Given the description of an element on the screen output the (x, y) to click on. 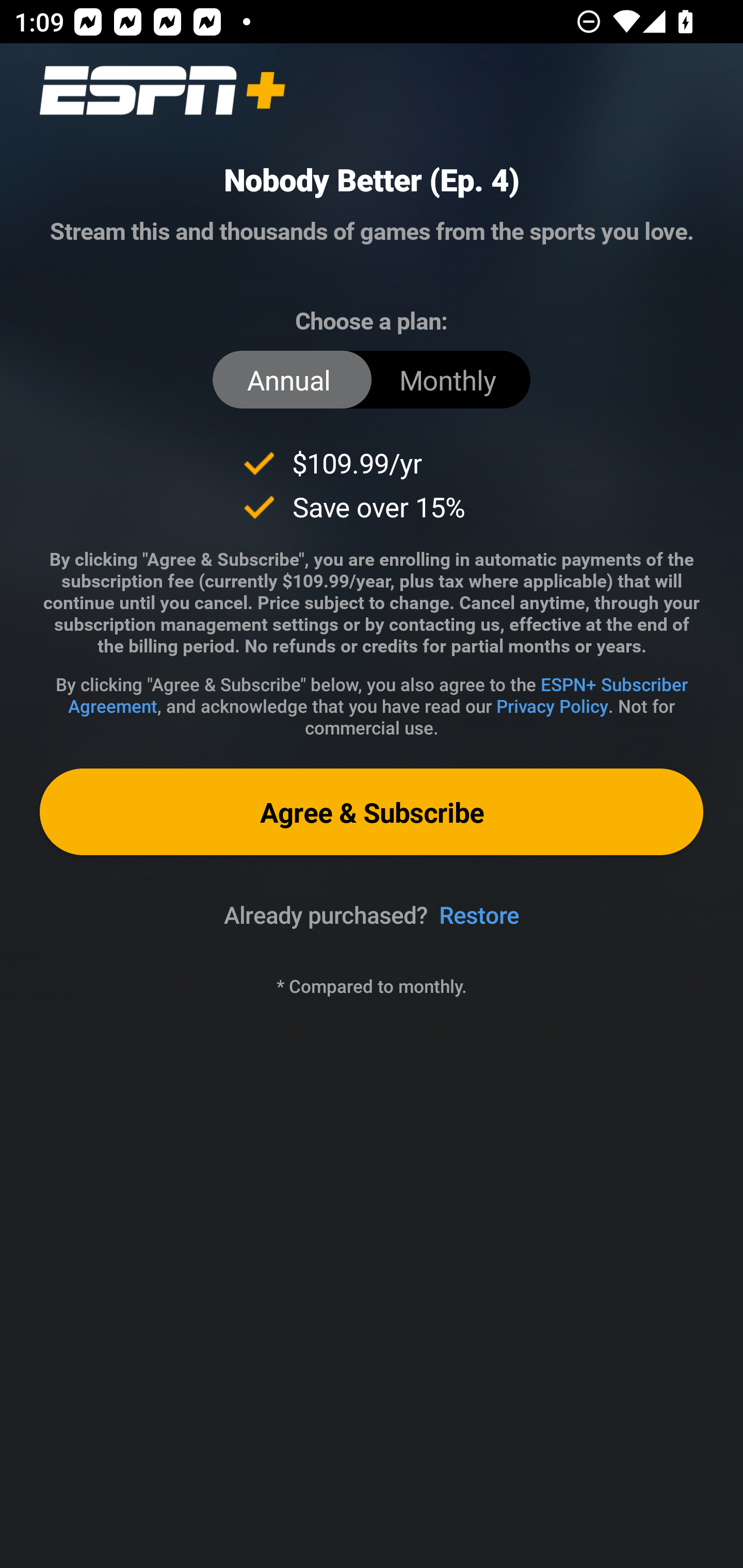
Agree & Subscribe (371, 811)
